Given the description of an element on the screen output the (x, y) to click on. 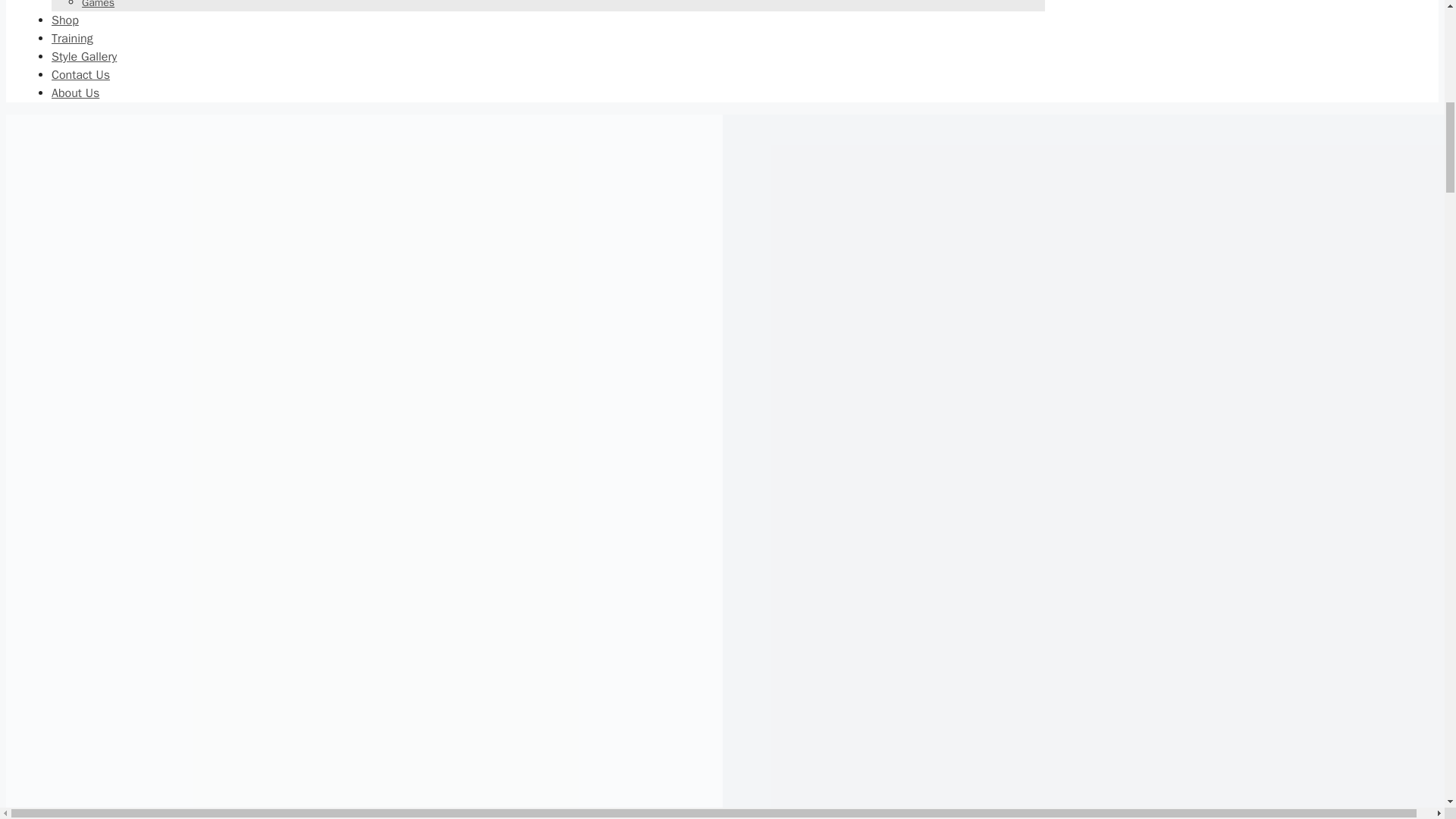
Games (98, 4)
Shop (64, 20)
